Given the description of an element on the screen output the (x, y) to click on. 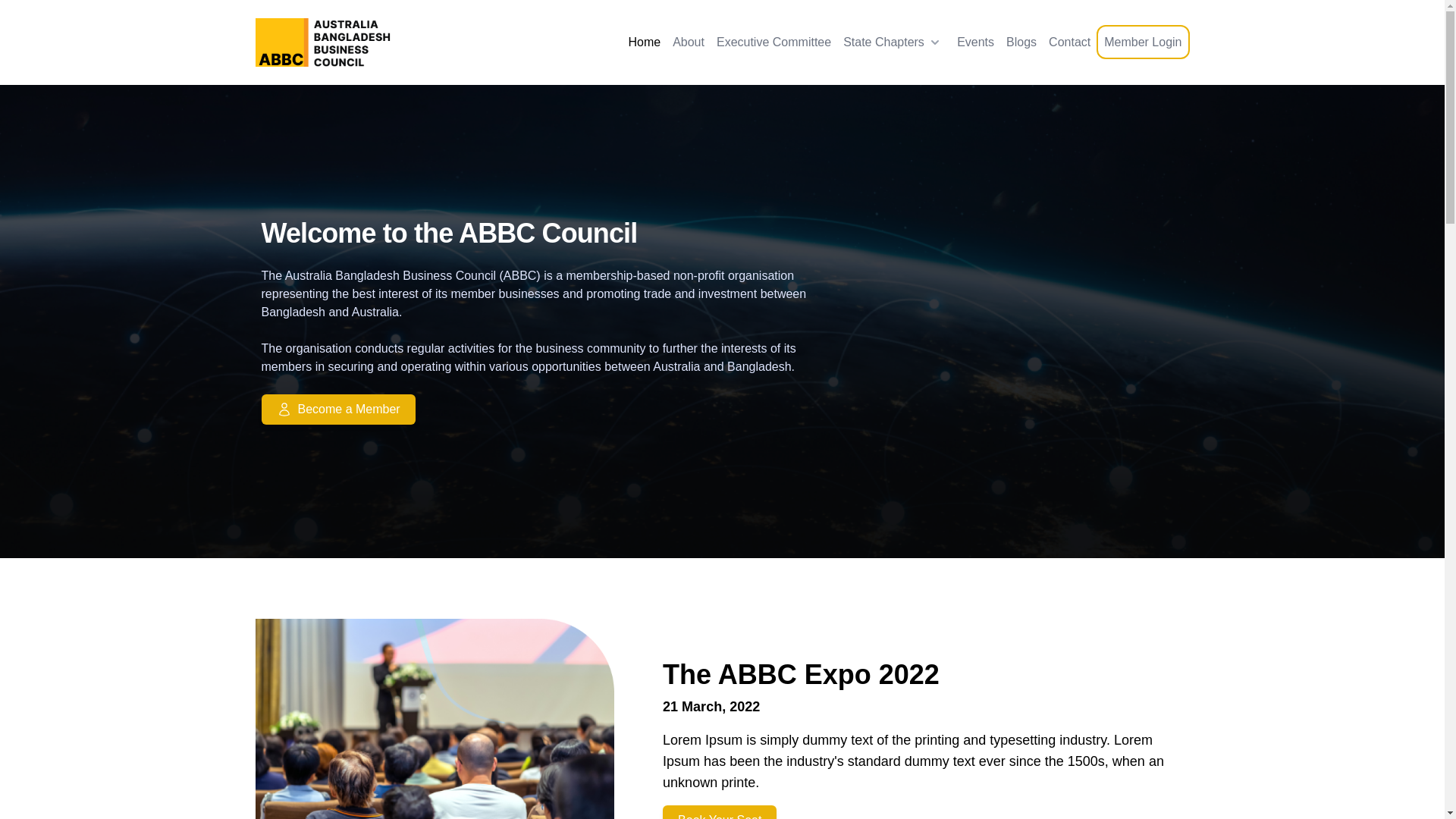
About Element type: text (688, 42)
Contact Element type: text (1069, 42)
Become a Member Element type: text (337, 409)
Events Element type: text (975, 42)
Executive Committee Element type: text (773, 42)
Blogs Element type: text (1021, 42)
Member Login Element type: text (1142, 42)
Become a Member Element type: text (551, 409)
Home Element type: text (643, 42)
